Given the description of an element on the screen output the (x, y) to click on. 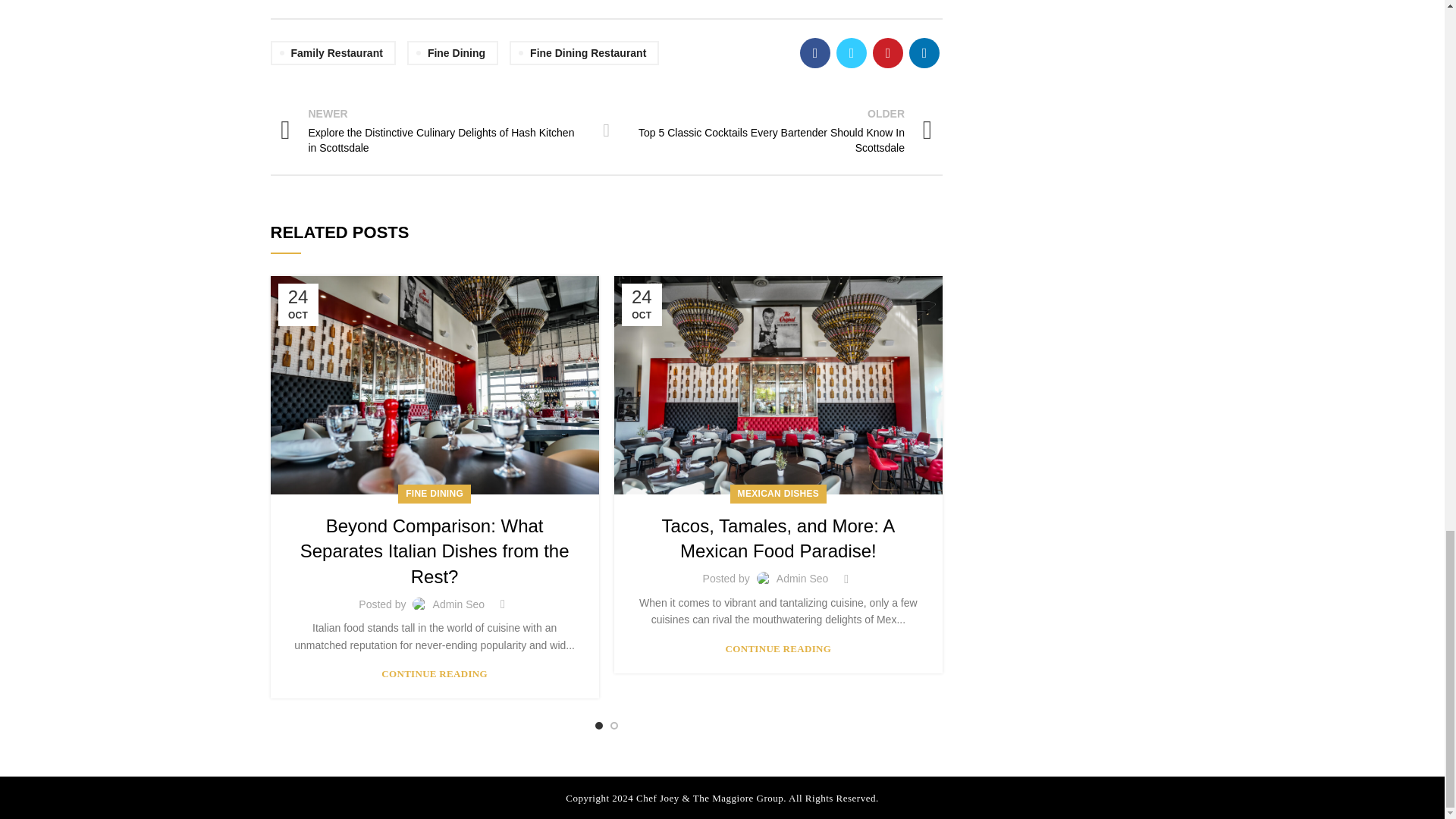
Back to list (606, 129)
Fine Dining Restaurant (584, 52)
CONTINUE READING (434, 673)
Family Restaurant (331, 52)
Admin Seo (802, 578)
Fine Dining (452, 52)
Tacos, Tamales, and More: A Mexican Food Paradise! (778, 538)
What Separates Italian Dishes from the Rest (433, 385)
Admin Seo (458, 604)
MEXICAN DISHES (778, 493)
FINE DINING (434, 493)
A Mexican Food Paradise! (777, 385)
